Given the description of an element on the screen output the (x, y) to click on. 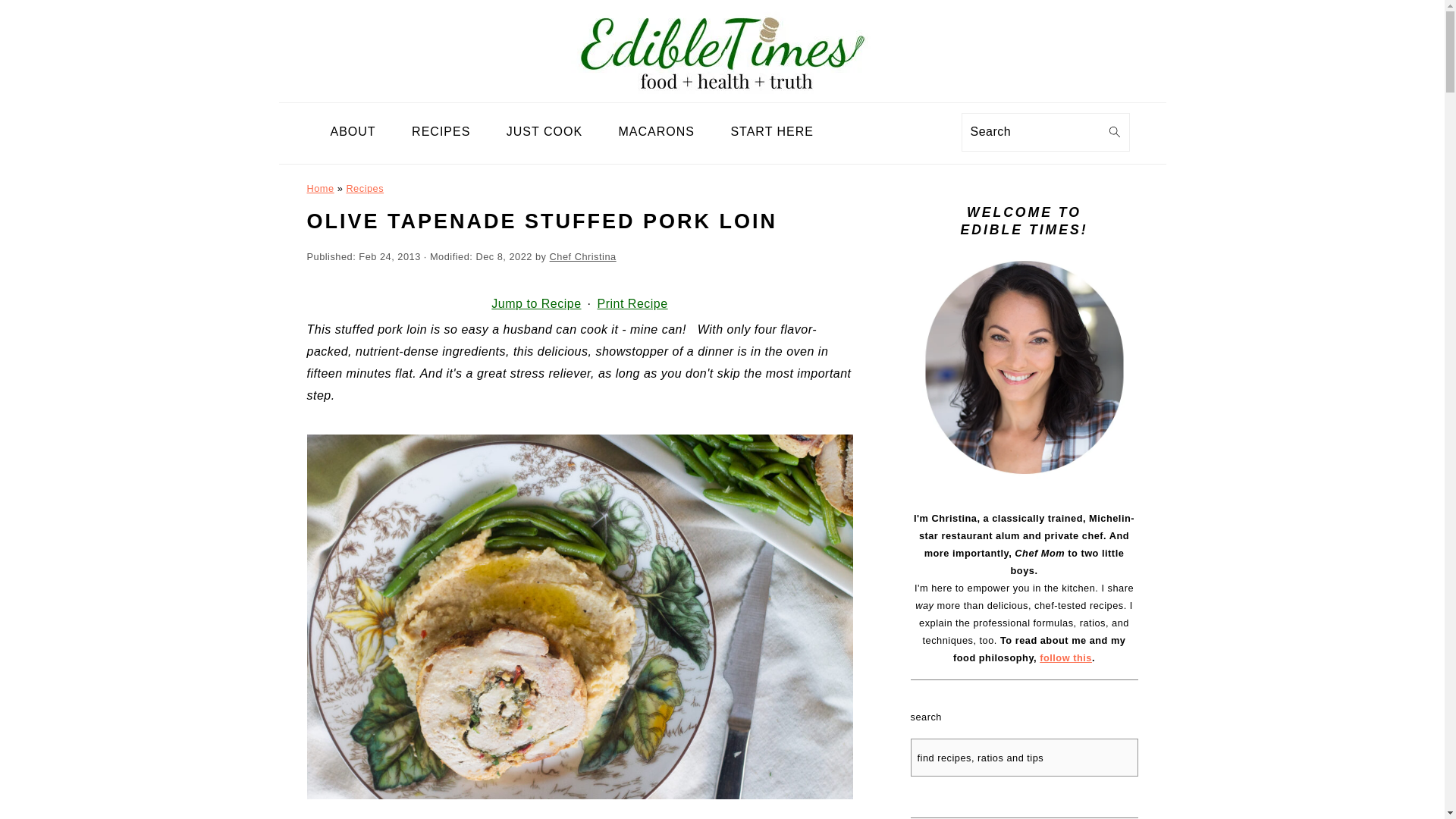
Pinterest (914, 135)
MACARONS (656, 132)
Pinterest (914, 135)
Recipes (365, 188)
RECIPES (441, 132)
JUST COOK (544, 132)
Instagram (886, 135)
Home (319, 188)
Edible Times (721, 47)
Facebook (859, 135)
ABOUT (352, 132)
Edible Times (721, 90)
